Given the description of an element on the screen output the (x, y) to click on. 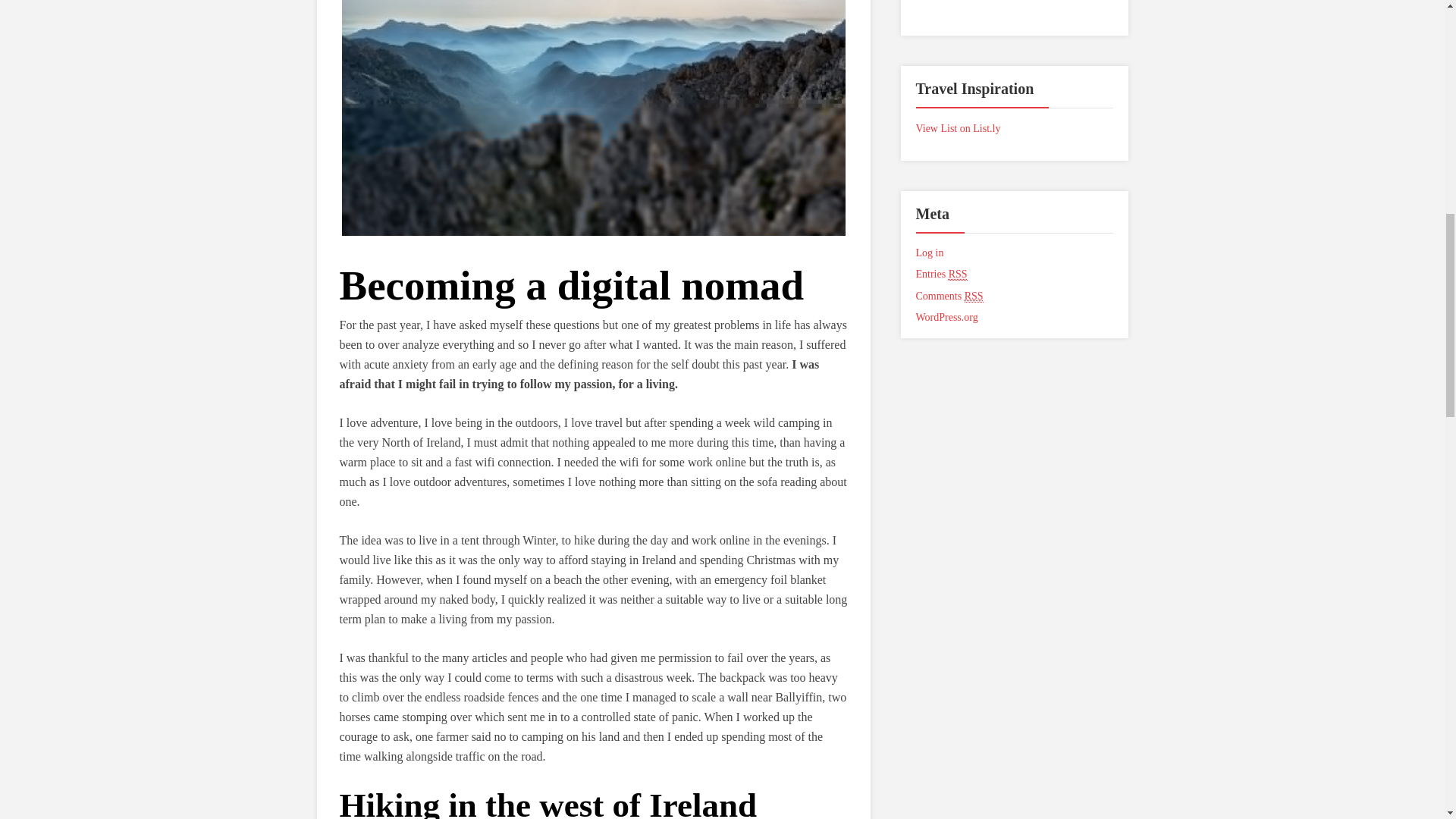
Entries RSS (941, 274)
Really Simple Syndication (958, 274)
Log in (929, 252)
View List on List.ly (958, 128)
Really Simple Syndication (973, 296)
WordPress.org (946, 317)
Comments RSS (949, 296)
